Given the description of an element on the screen output the (x, y) to click on. 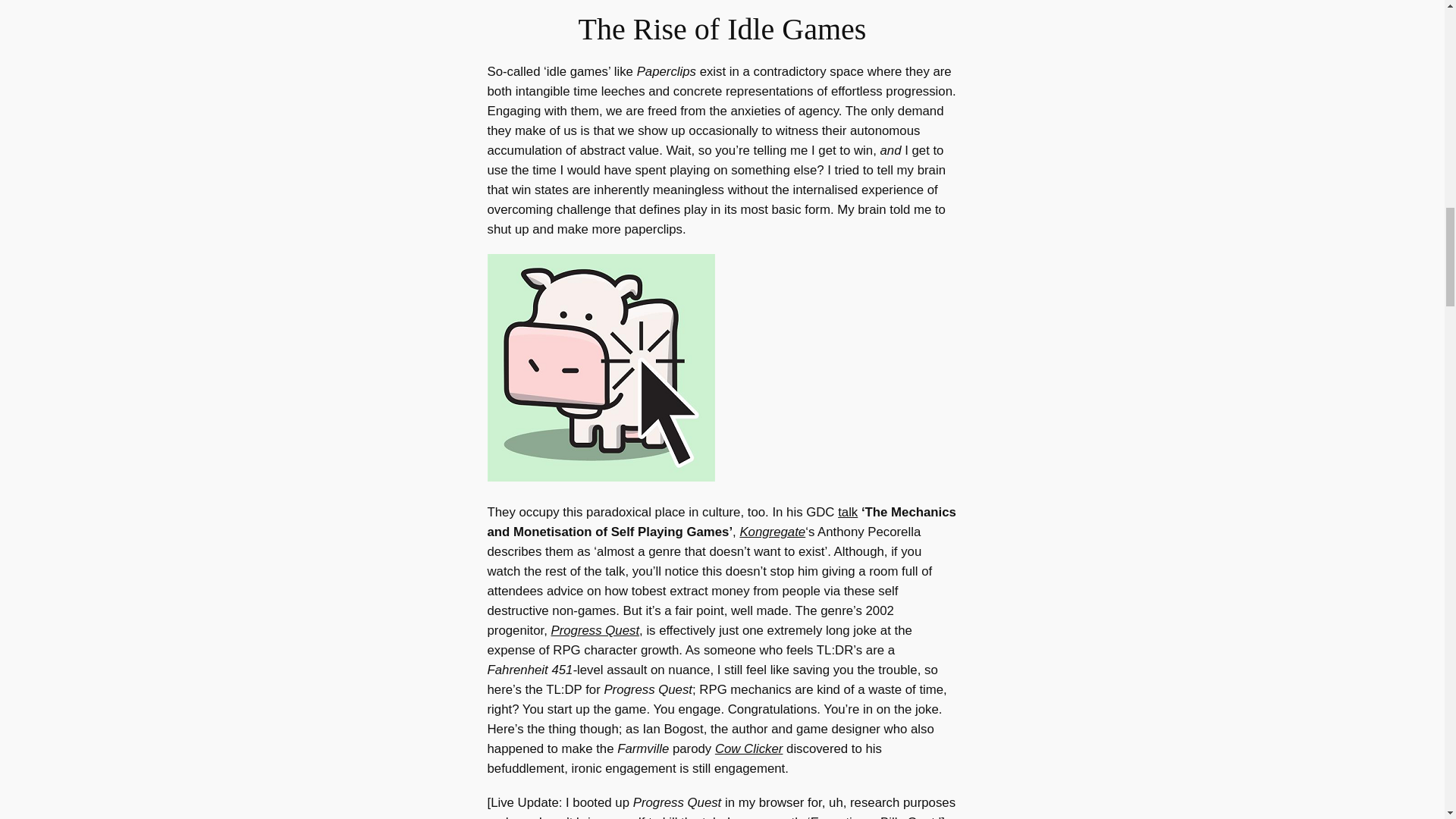
Kongregate (772, 531)
talk (847, 512)
Progress Quest (594, 630)
Cow Clicker (748, 748)
